Given the description of an element on the screen output the (x, y) to click on. 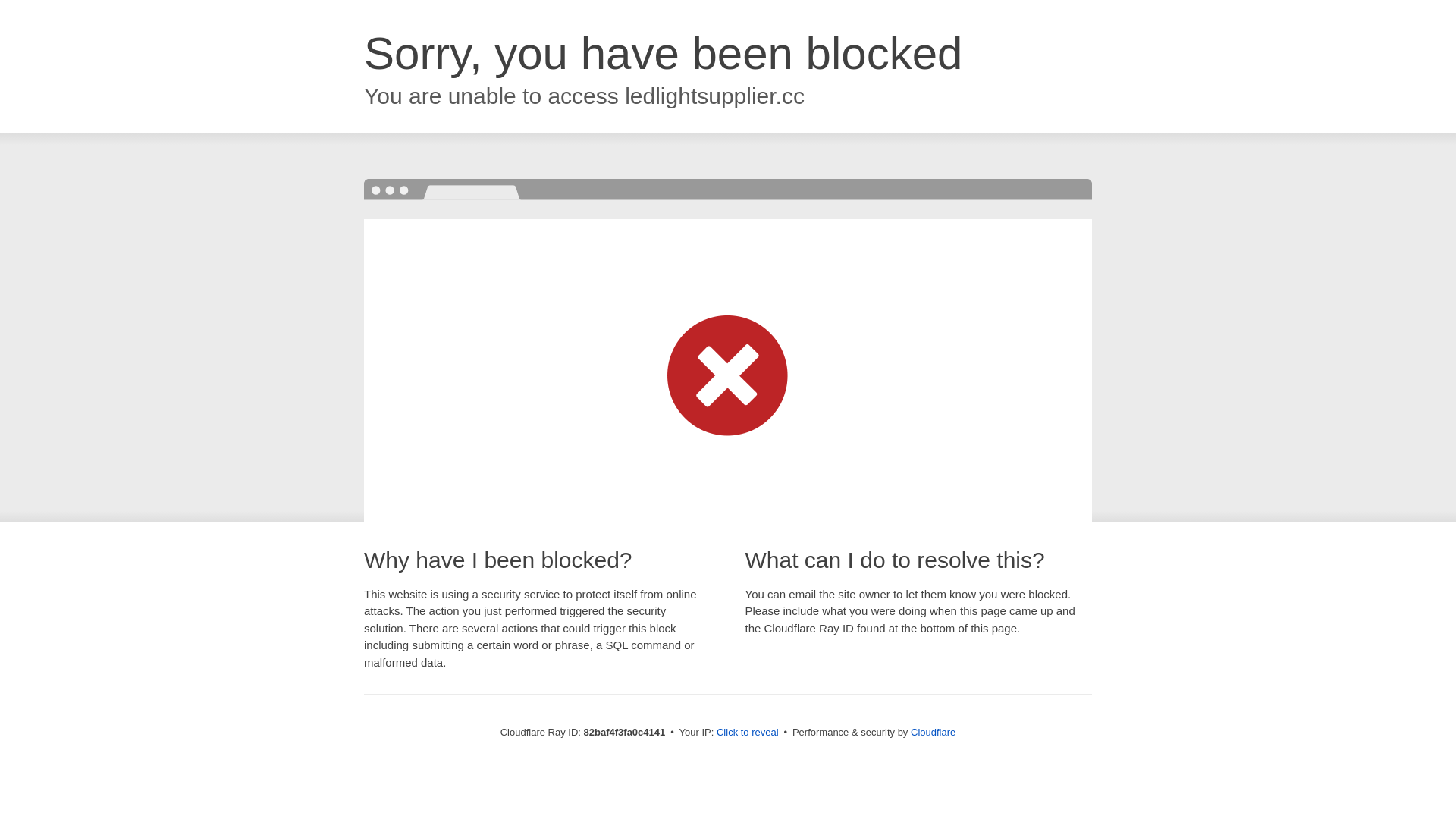
Click to reveal Element type: text (747, 732)
Cloudflare Element type: text (932, 731)
